Given the description of an element on the screen output the (x, y) to click on. 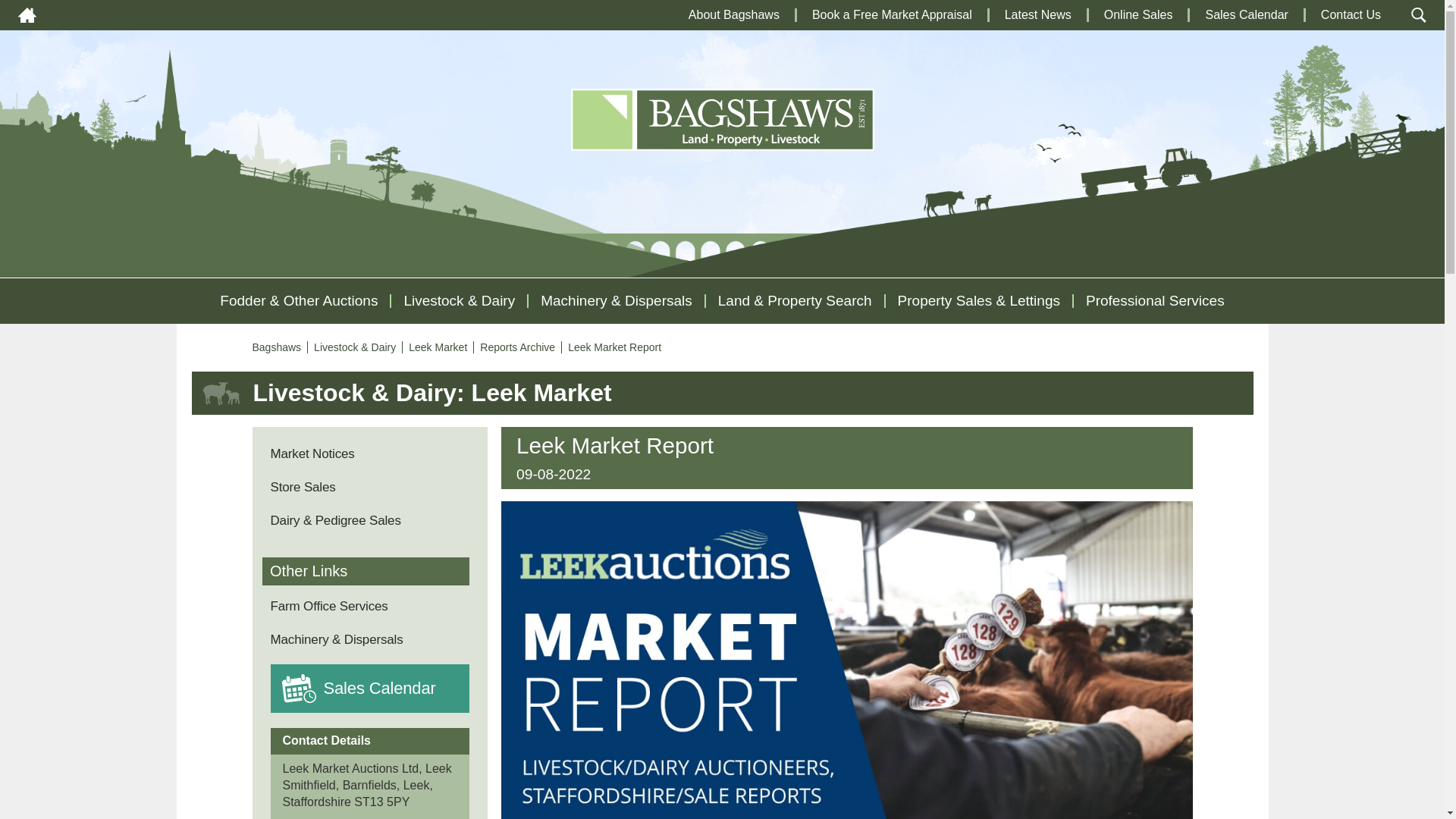
Contact Us (1350, 14)
About Bagshaws (733, 14)
Market Notices (311, 453)
Professional Services (1155, 300)
Bagshaws (279, 346)
Farm Office Services (328, 605)
Online Sales (1138, 14)
Sales Calendar (379, 687)
Latest News (1037, 14)
Leek Market (441, 346)
Sales Calendar (1246, 14)
Store Sales (301, 486)
Book a Free Market Appraisal (892, 14)
Reports Archive (521, 346)
